Given the description of an element on the screen output the (x, y) to click on. 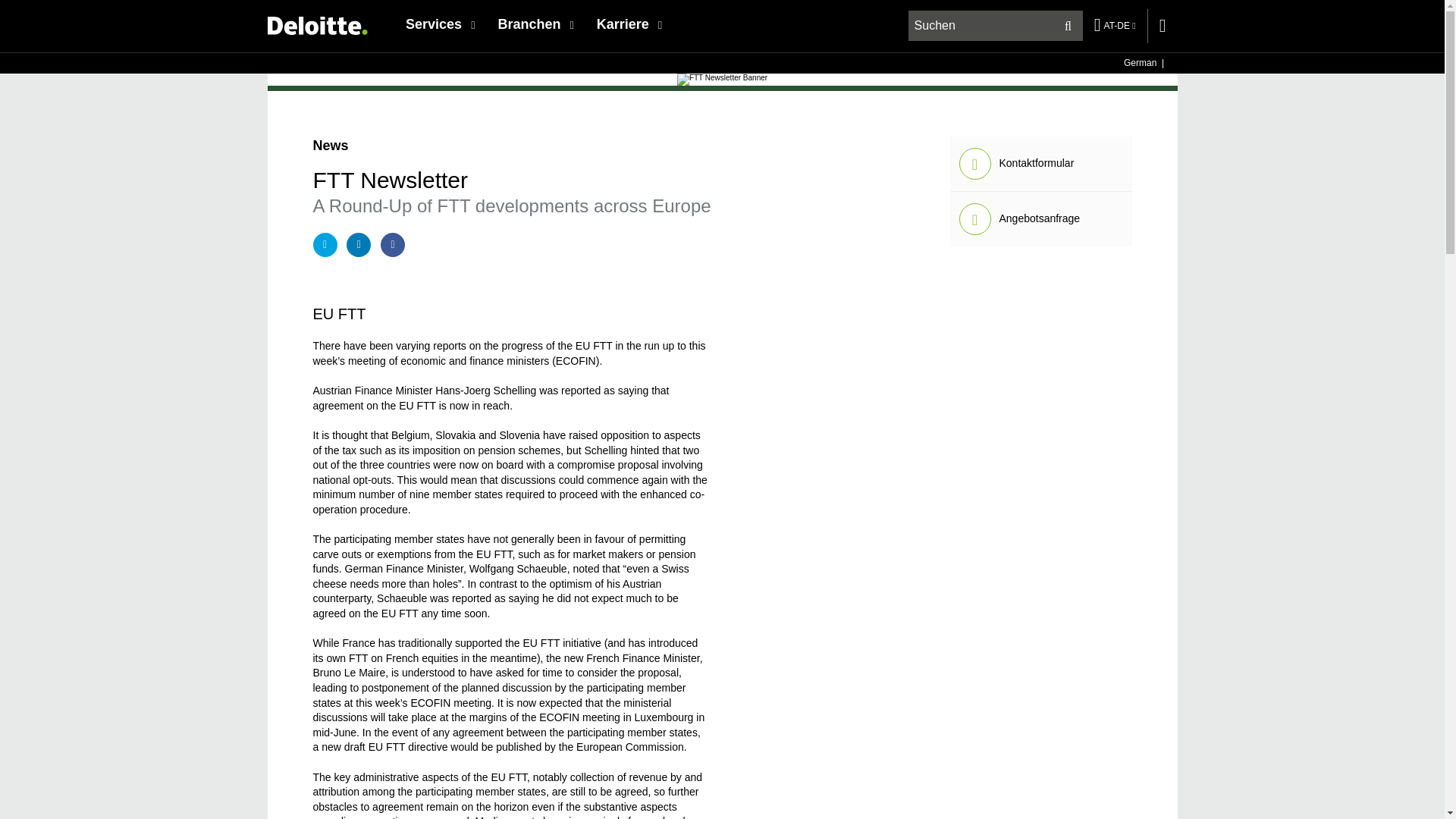
Suchen (1067, 25)
auf Linkedin teilen (358, 244)
auf Facebook teilen (392, 244)
Services (440, 24)
search (995, 25)
Seite mailen (324, 244)
